Given the description of an element on the screen output the (x, y) to click on. 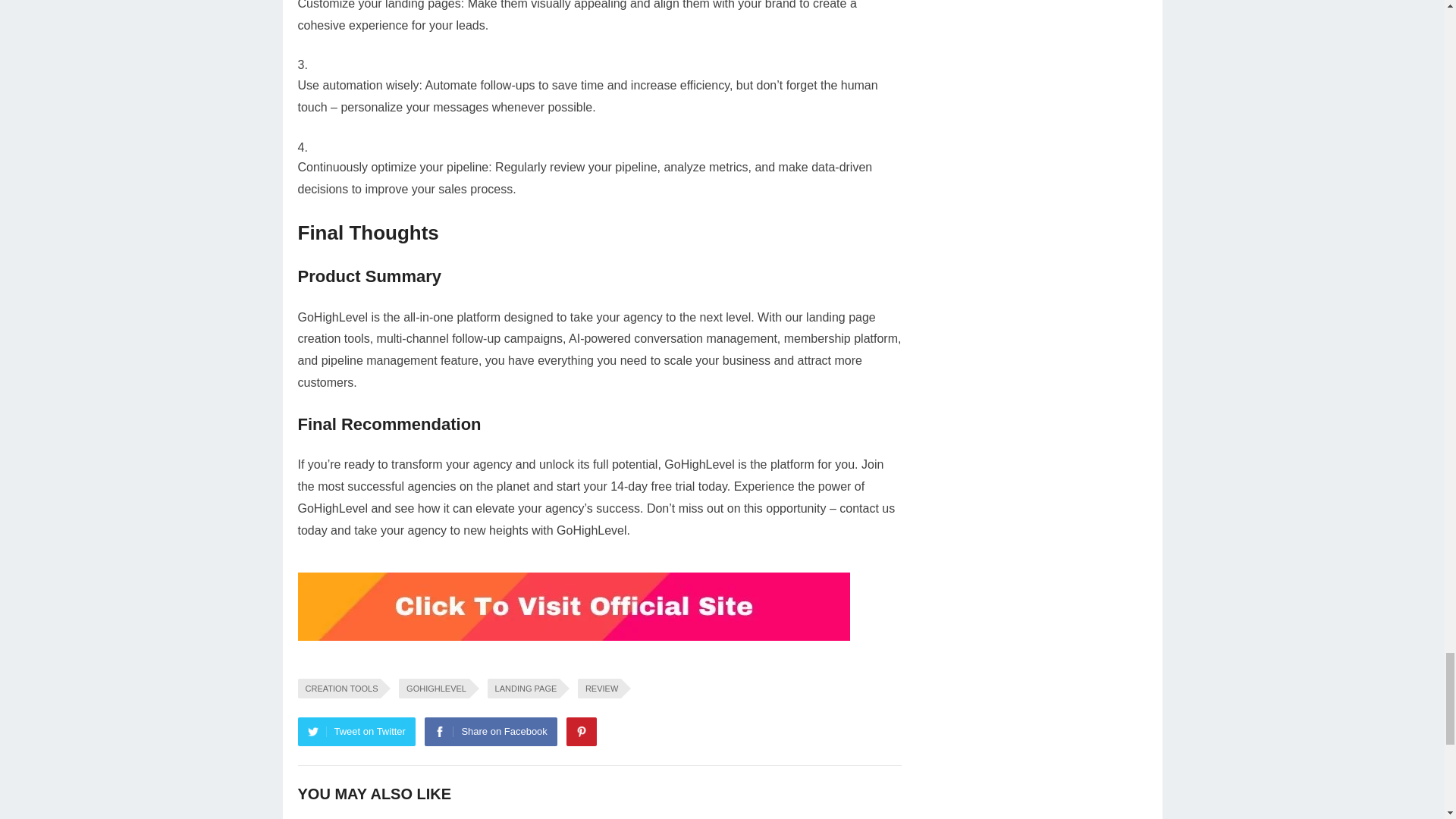
CREATION TOOLS (338, 688)
LANDING PAGE (523, 688)
GOHIGHLEVEL (433, 688)
